Given the description of an element on the screen output the (x, y) to click on. 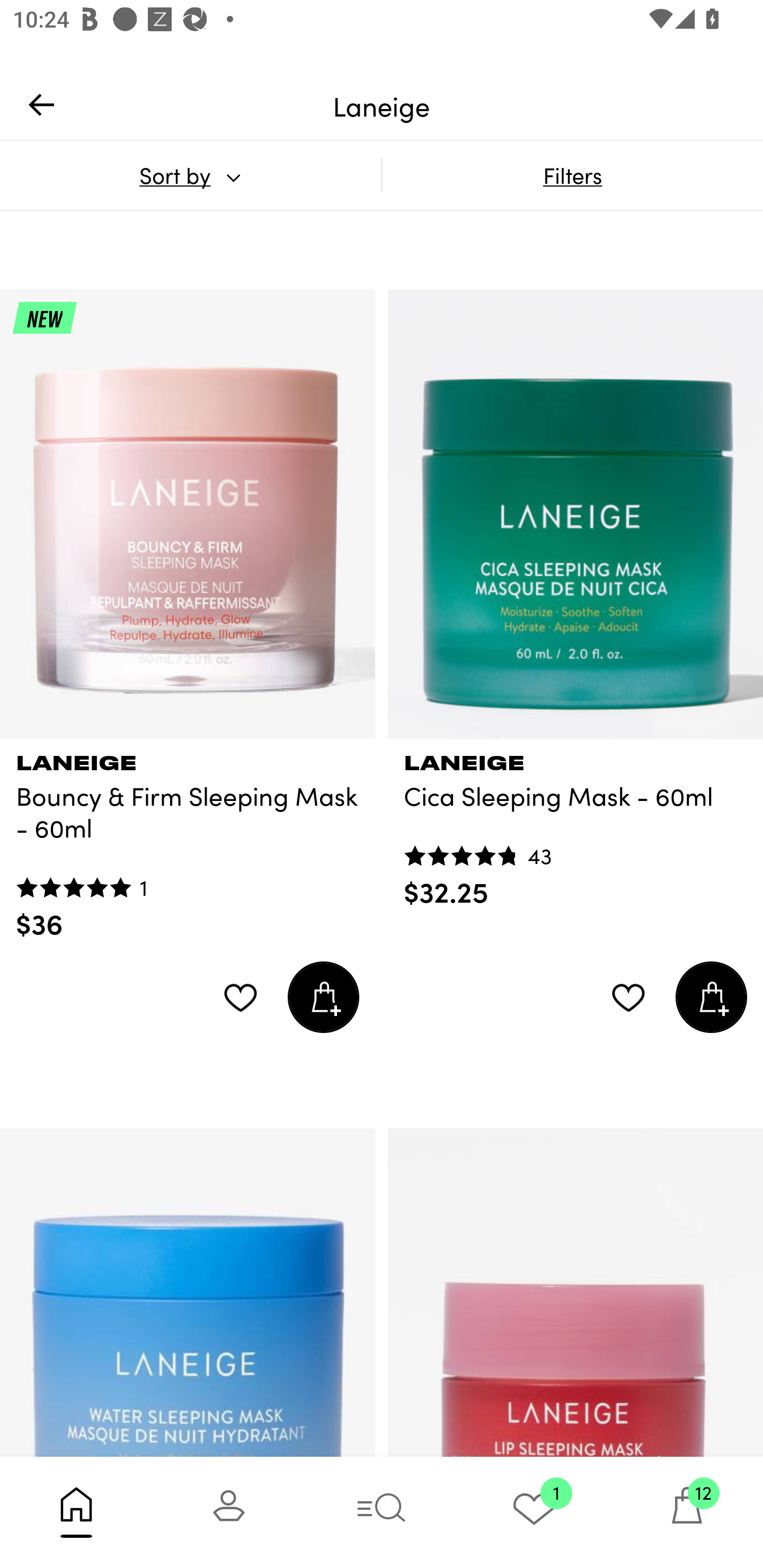
Sort by (190, 174)
Filters (572, 174)
LANEIGE Bouncy & Firm Sleeping Mask - 60ml 1 $36 (187, 840)
LANEIGE Cica Sleeping Mask - 60ml 43 $32.25 (575, 824)
1 (533, 1512)
12 (686, 1512)
